Given the description of an element on the screen output the (x, y) to click on. 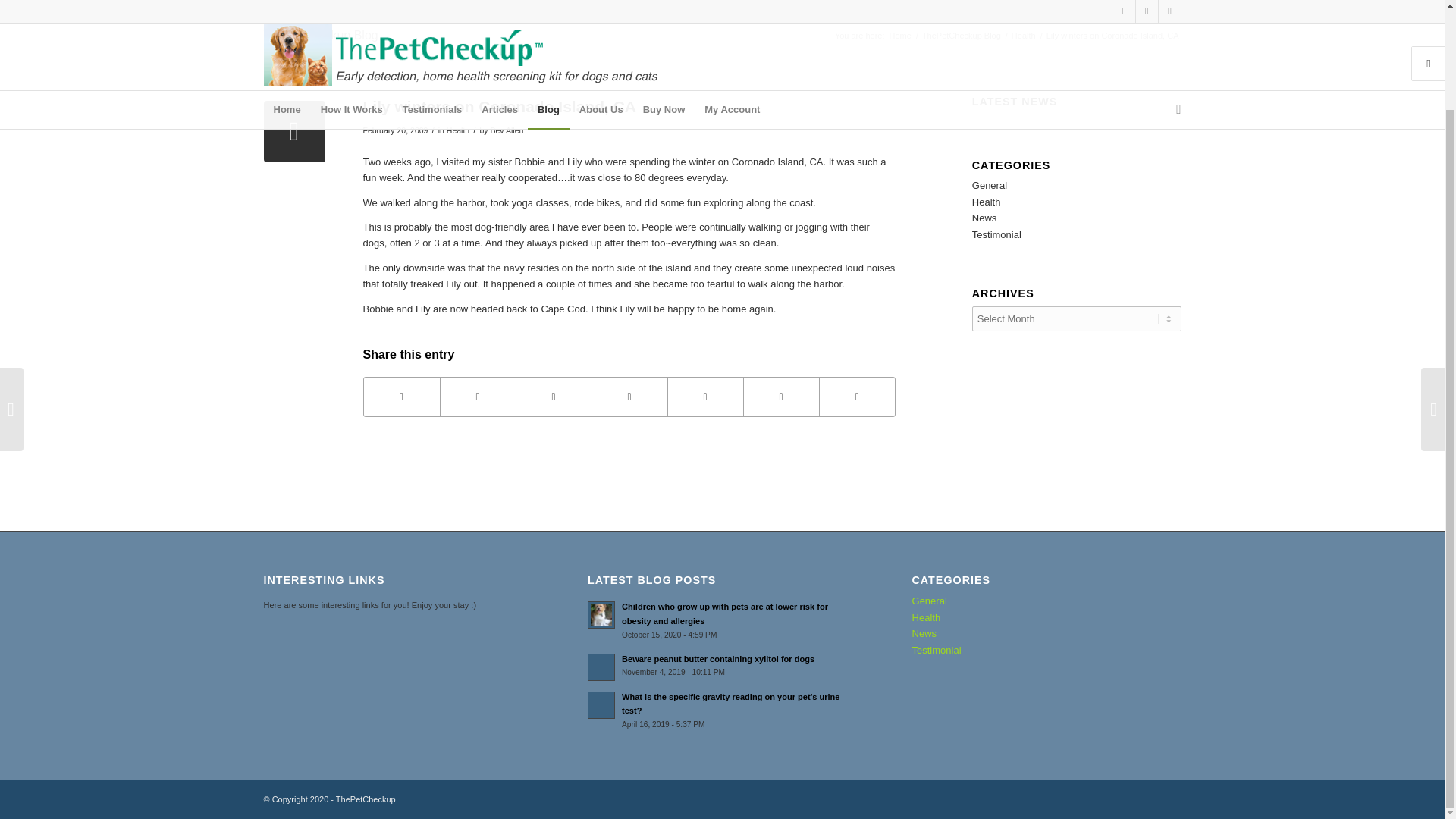
Permanent Link: ThePetCheckup Blog (320, 34)
Posts by Bev Allen (505, 130)
Buy Now (664, 6)
ThePetCheckup Blog (961, 35)
Bev Allen (505, 130)
Home (900, 35)
Health (457, 130)
Articles (499, 6)
Testimonials (432, 6)
ThePetCheckup (900, 35)
My Account (732, 6)
Health (1023, 35)
About Us (601, 6)
ThePetCheckup Blog (320, 34)
How It Works (352, 6)
